Given the description of an element on the screen output the (x, y) to click on. 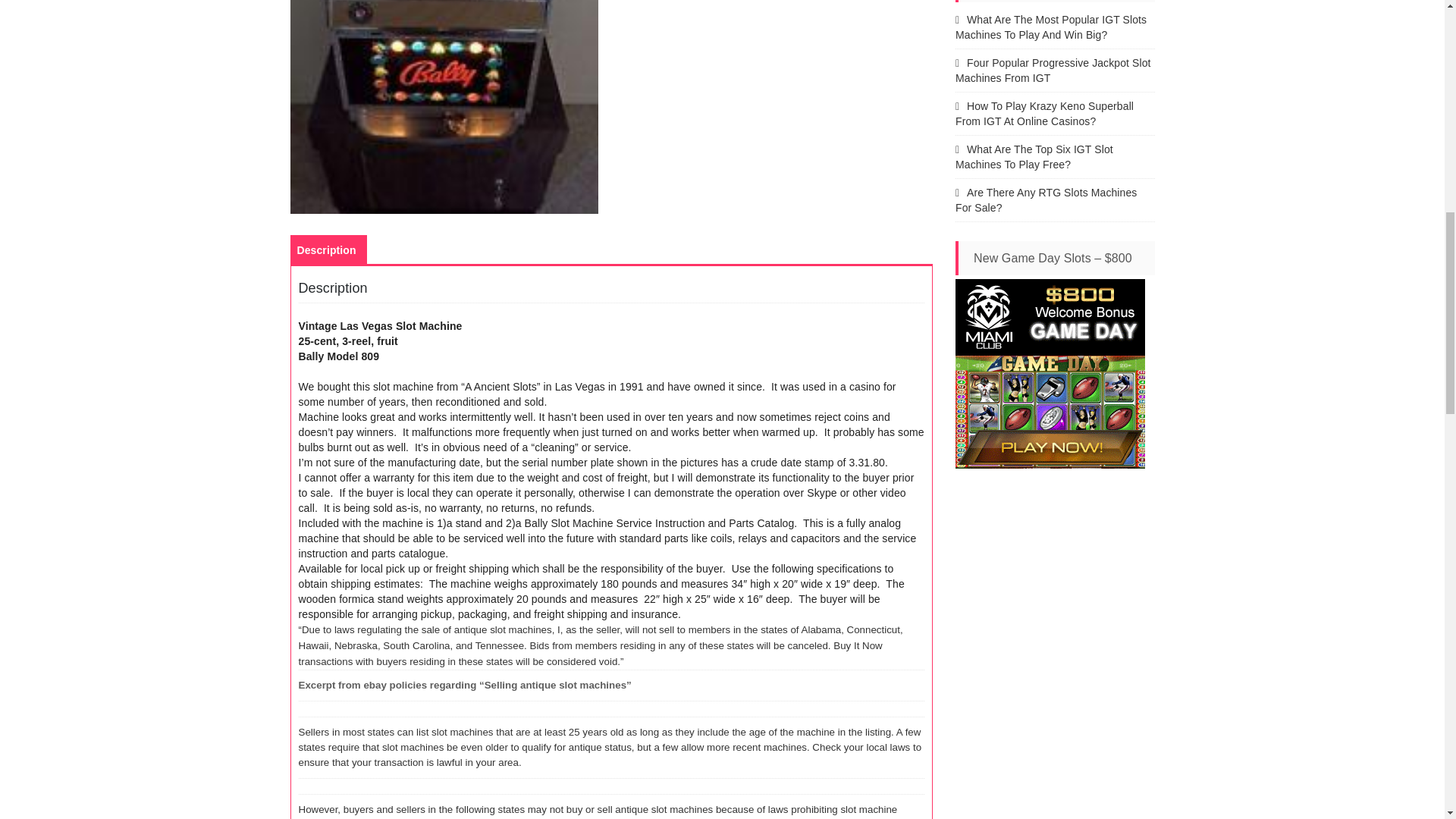
s-l300.jpg (443, 106)
Description (326, 249)
What Are The Top Six IGT Slot Machines To Play Free? (1034, 156)
How To Play Krazy Keno Superball From IGT At Online Casinos? (1044, 113)
Are There Any RTG Slots Machines For Sale? (1046, 199)
Four Popular Progressive Jackpot Slot Machines From IGT (1053, 70)
